Given the description of an element on the screen output the (x, y) to click on. 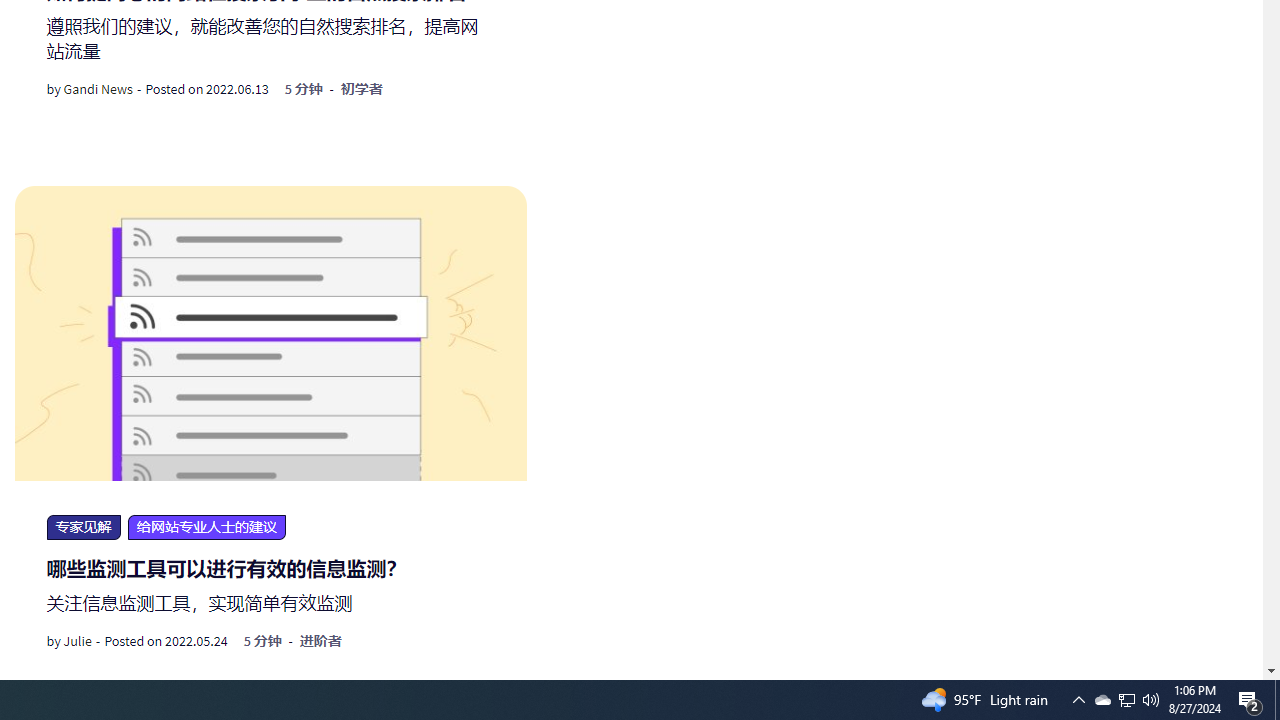
Gandi News (97, 89)
Julie (77, 641)
